Given the description of an element on the screen output the (x, y) to click on. 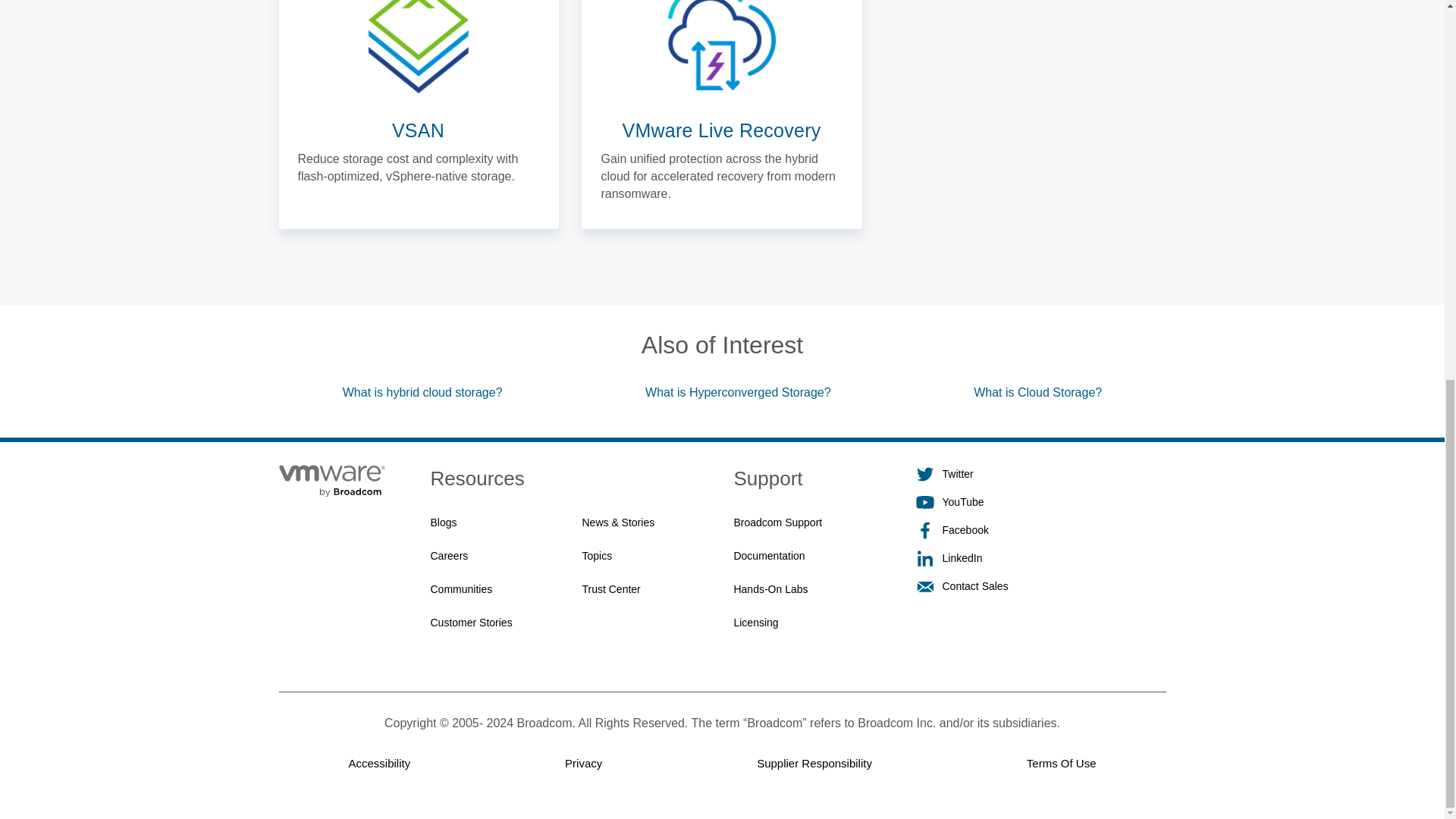
Trust Center (610, 590)
VSAN (418, 131)
icon prod vsan product ico rgb 400px (418, 46)
Topics (595, 556)
Communities (461, 590)
What is hybrid cloud storage? (422, 393)
What is Cloud Storage? (1038, 393)
What is Hyperconverged Storage? (738, 393)
icon prod cld disaster recovery rgb 400px (721, 46)
Blogs (443, 523)
